Given the description of an element on the screen output the (x, y) to click on. 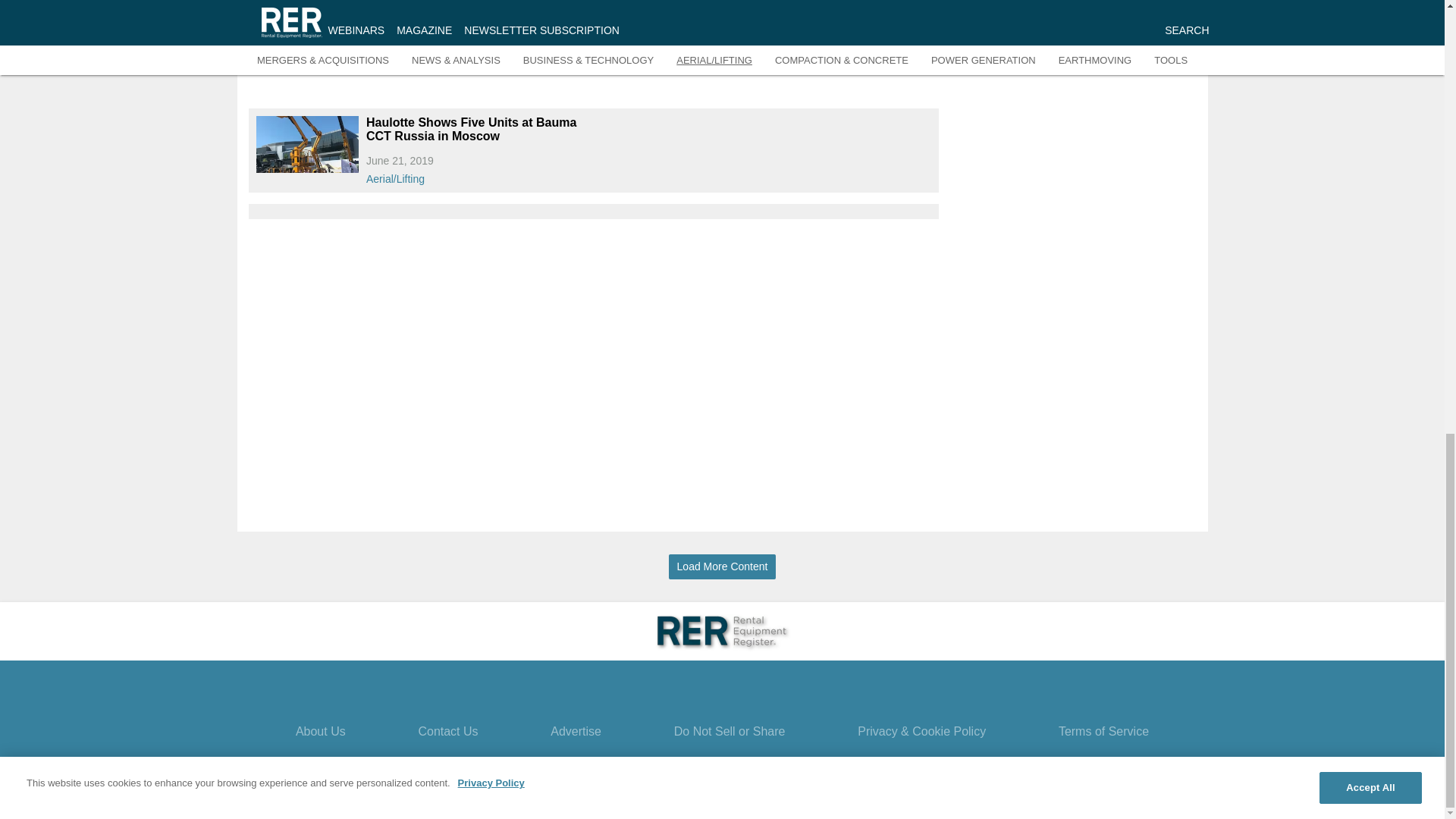
Headline News (1129, 40)
Haulotte Shows Five Units at Bauma CCT Russia in Moscow (476, 129)
Haulotte at Bauma Russia.jpg (307, 144)
